Given the description of an element on the screen output the (x, y) to click on. 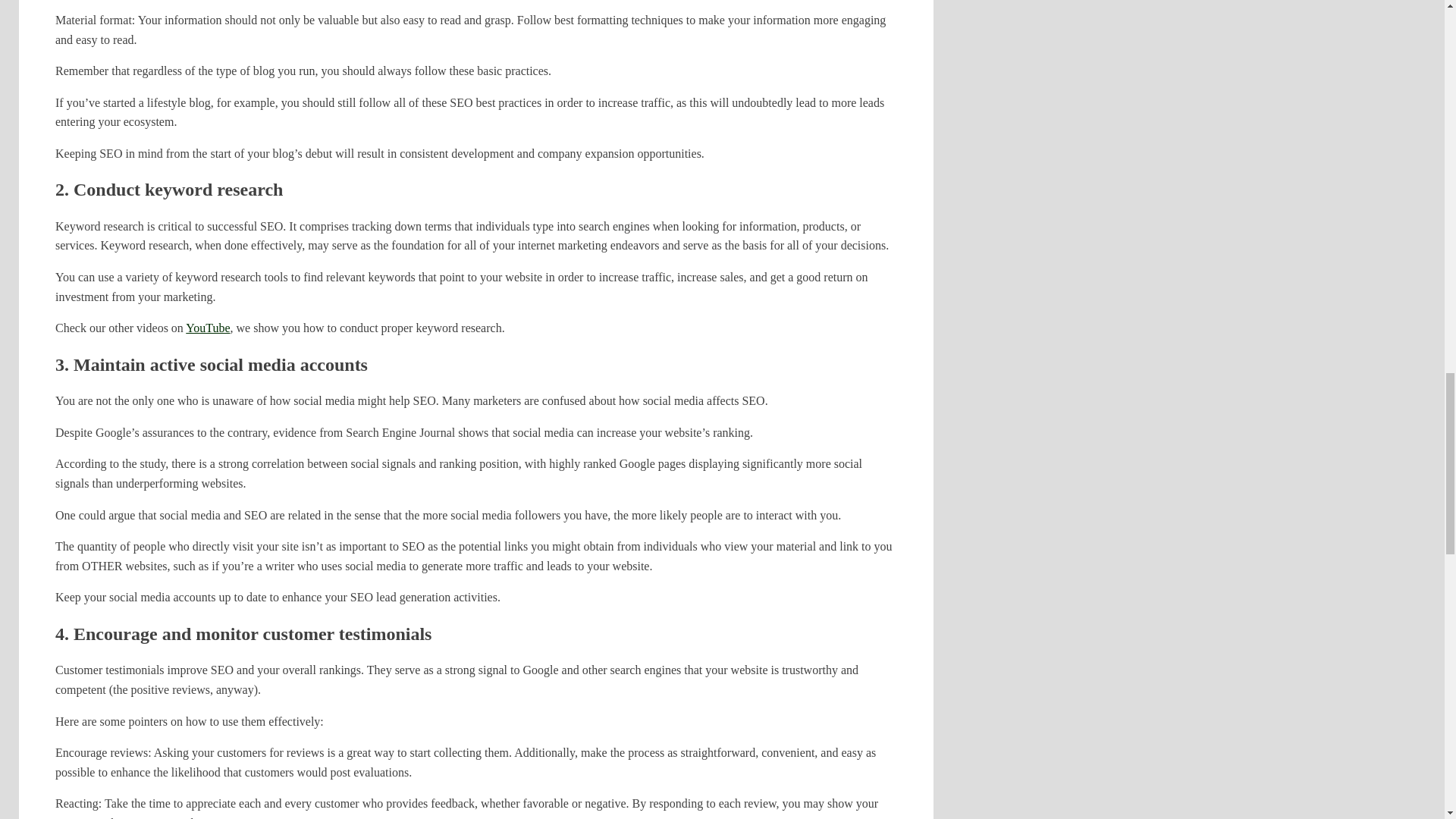
YouTube (208, 327)
